Given the description of an element on the screen output the (x, y) to click on. 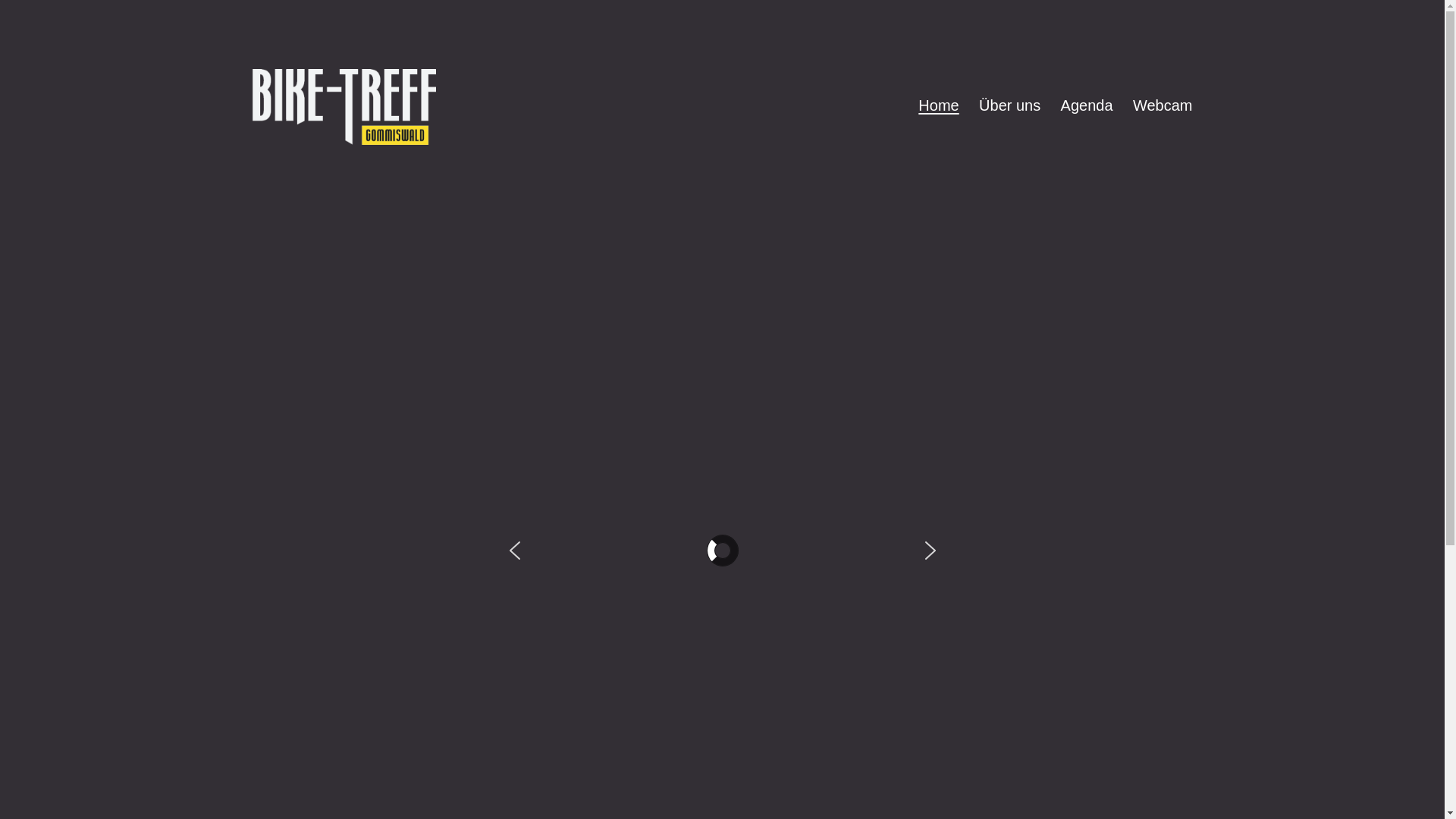
Home Element type: text (938, 104)
Agenda Element type: text (1086, 104)
Webcam Element type: text (1162, 104)
